Given the description of an element on the screen output the (x, y) to click on. 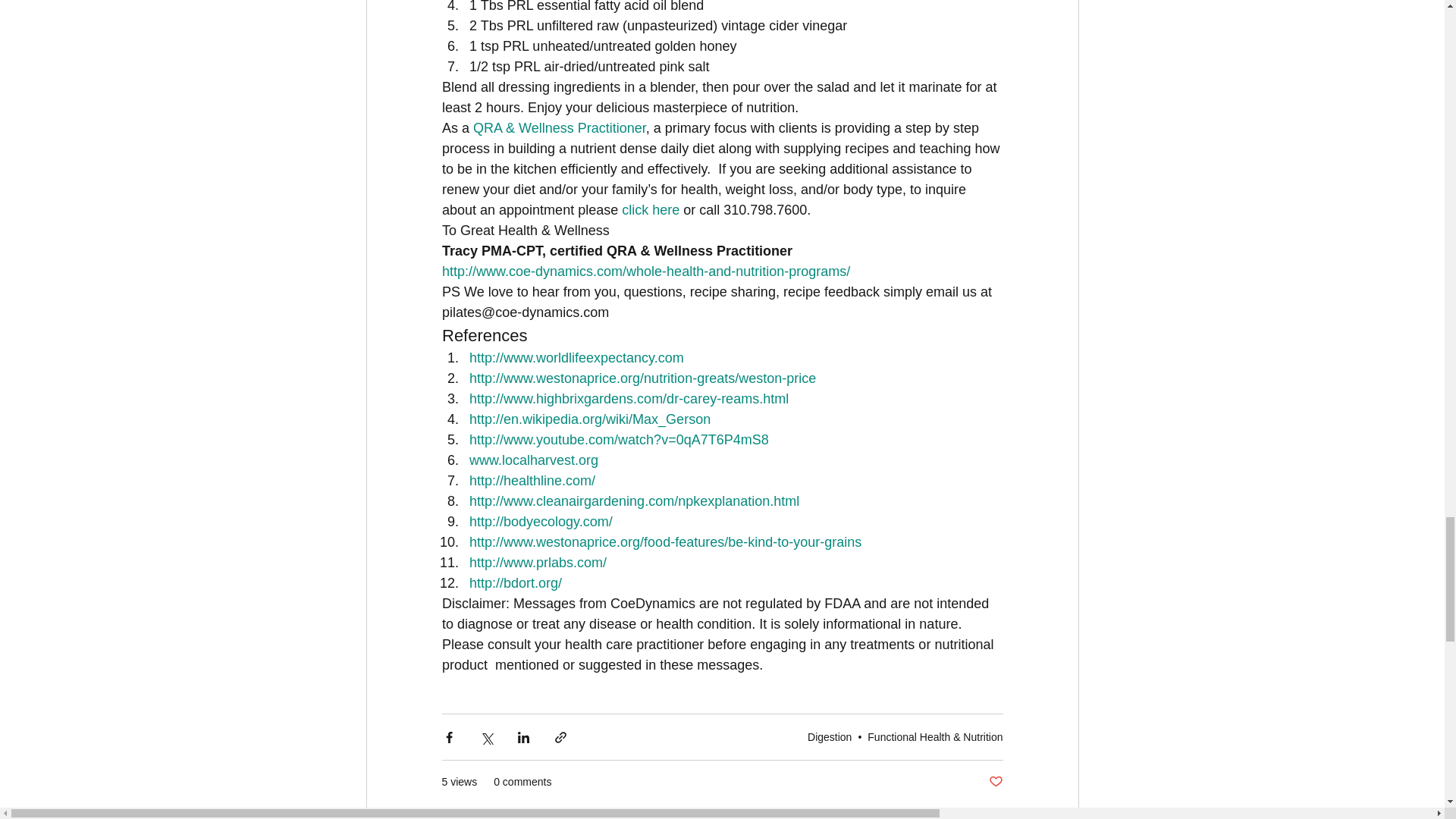
www.localharvest.org (532, 459)
click here (650, 209)
